Given the description of an element on the screen output the (x, y) to click on. 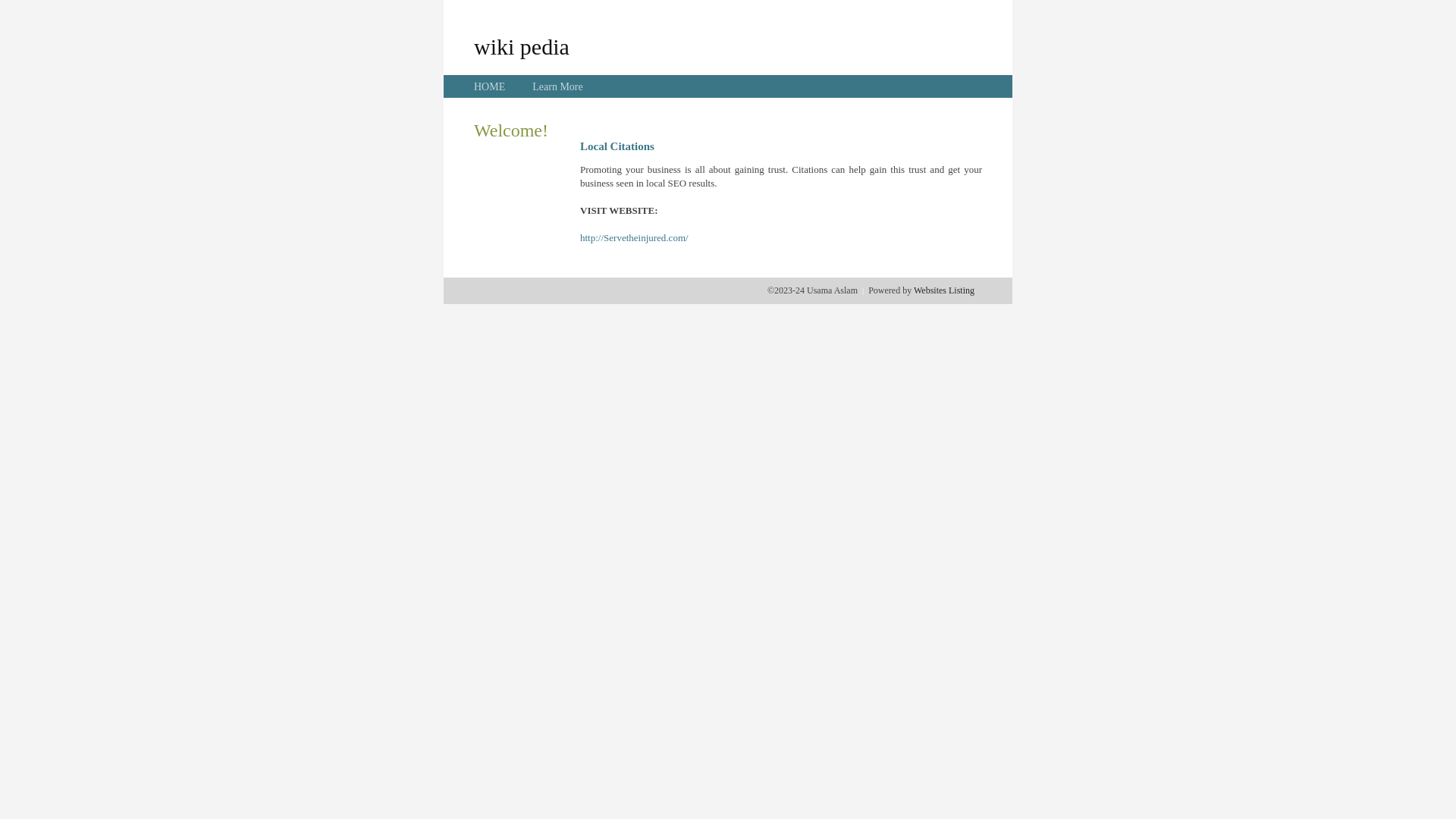
http://Servetheinjured.com/ Element type: text (634, 237)
Learn More Element type: text (557, 86)
wiki pedia Element type: text (521, 46)
Websites Listing Element type: text (943, 290)
HOME Element type: text (489, 86)
